Given the description of an element on the screen output the (x, y) to click on. 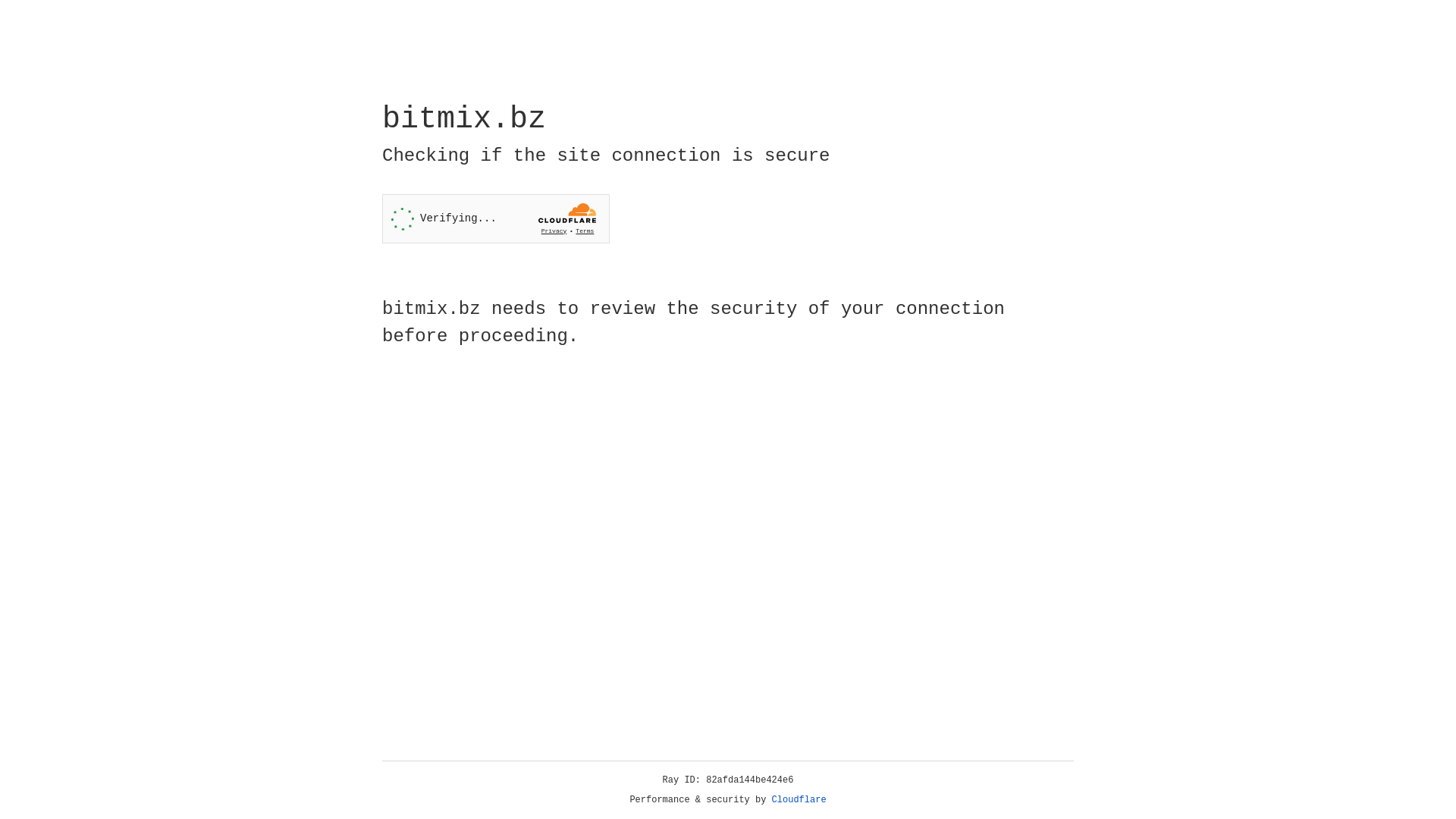
Widget containing a Cloudflare security challenge Element type: hover (495, 218)
Cloudflare Element type: text (798, 799)
